Given the description of an element on the screen output the (x, y) to click on. 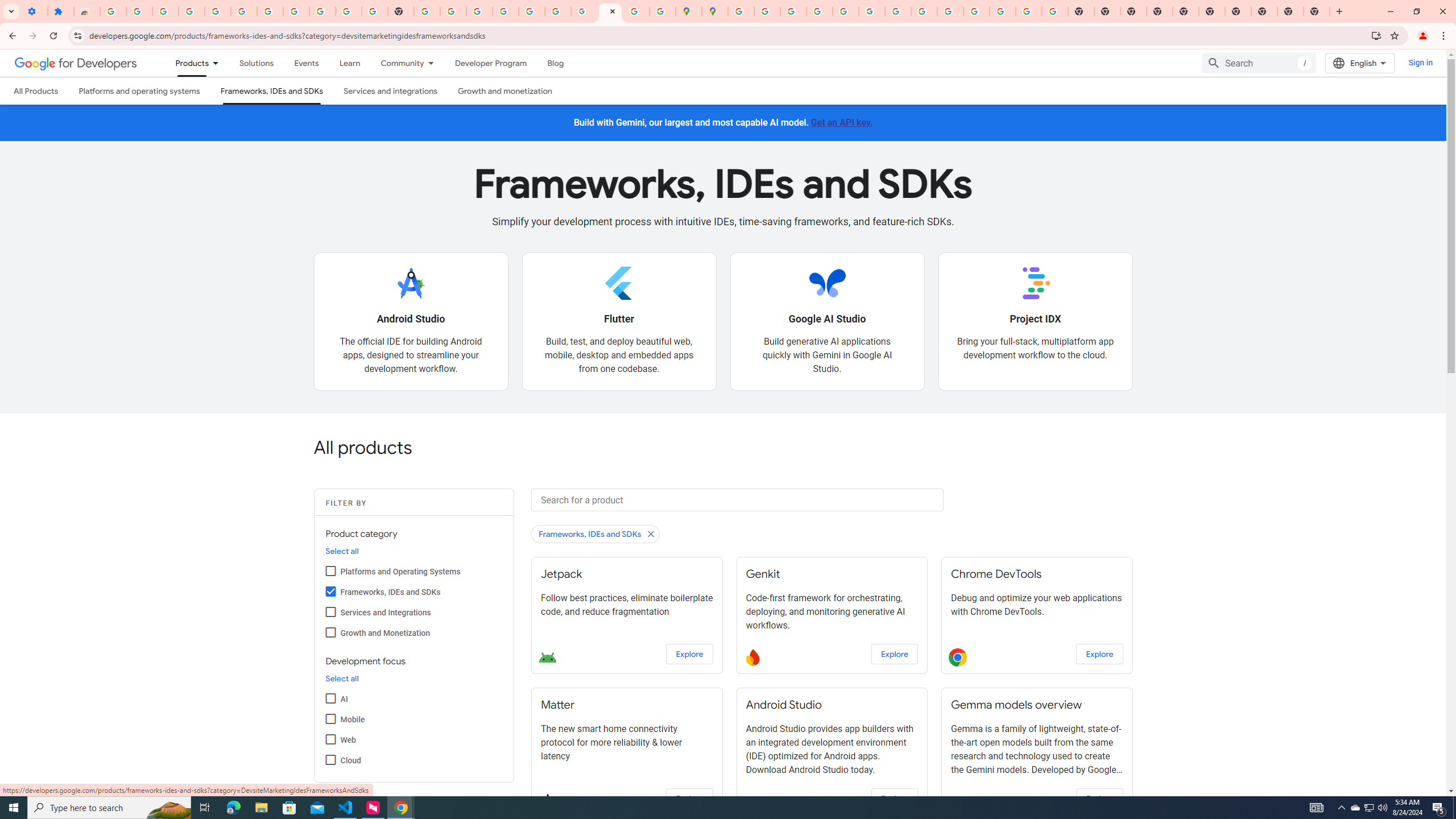
AutomationID: devsitemarketingidesframeworksandsdks (330, 590)
Privacy Help Center - Policies Help (792, 11)
Google Images (1054, 11)
Web (330, 738)
Google Account (322, 11)
Services and Integrations (330, 611)
Frameworks, IDEs and SDKs - Google for Developers (610, 11)
English (1359, 63)
Community (396, 62)
Platforms and Operating Systems (330, 570)
